Given the description of an element on the screen output the (x, y) to click on. 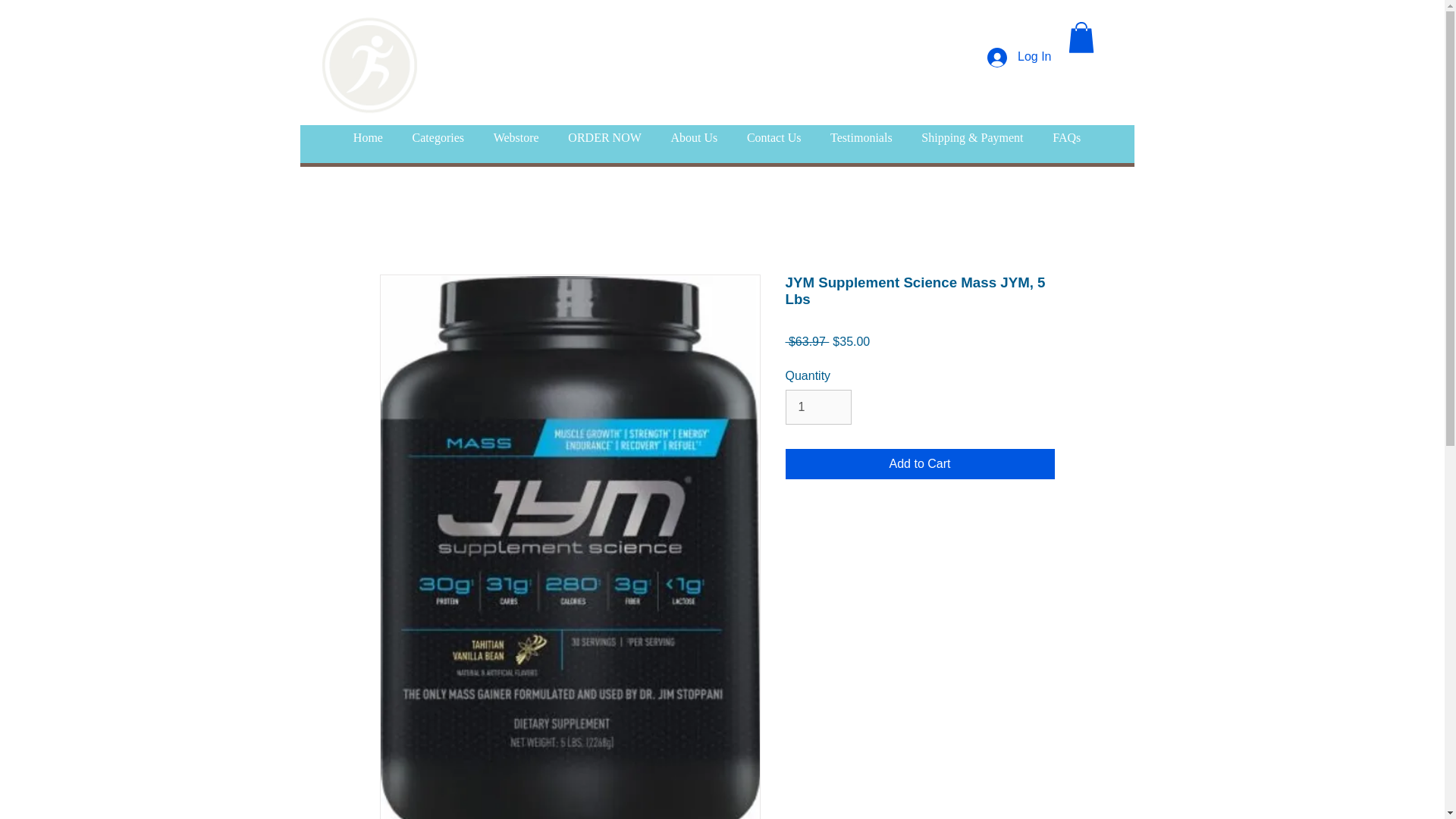
Home (367, 137)
ORDER NOW (604, 137)
Contact Us (773, 137)
1 (818, 407)
Webstore (516, 137)
Categories (438, 137)
FAQs (1067, 137)
About Us (694, 137)
Log In (1018, 57)
Add to Cart (920, 463)
Testimonials (861, 137)
